Given the description of an element on the screen output the (x, y) to click on. 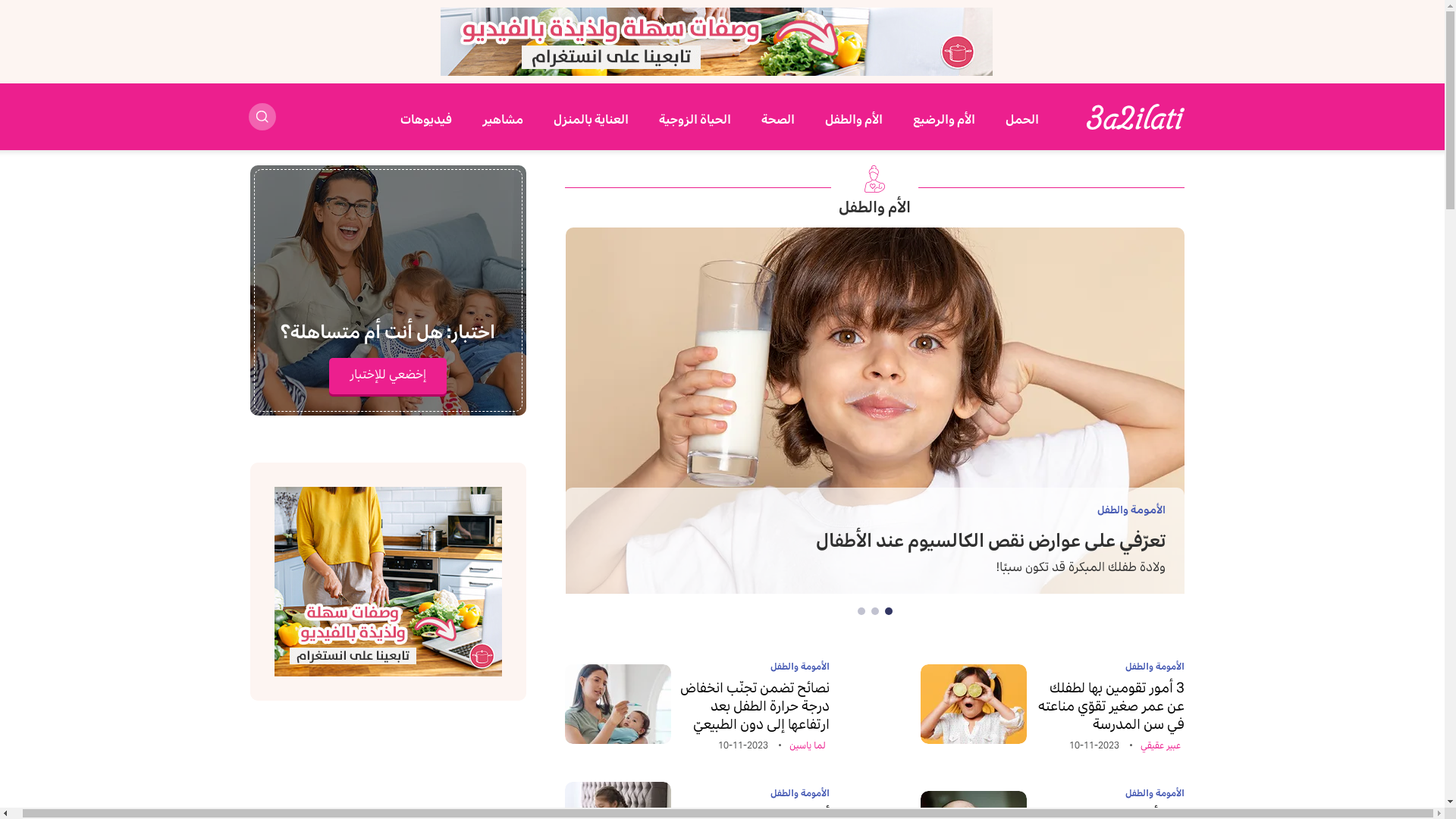
3rd party ad content Element type: hover (388, 581)
2 Element type: text (874, 611)
3 Element type: text (861, 611)
3rd party ad content Element type: hover (716, 41)
1 Element type: text (888, 611)
